Given the description of an element on the screen output the (x, y) to click on. 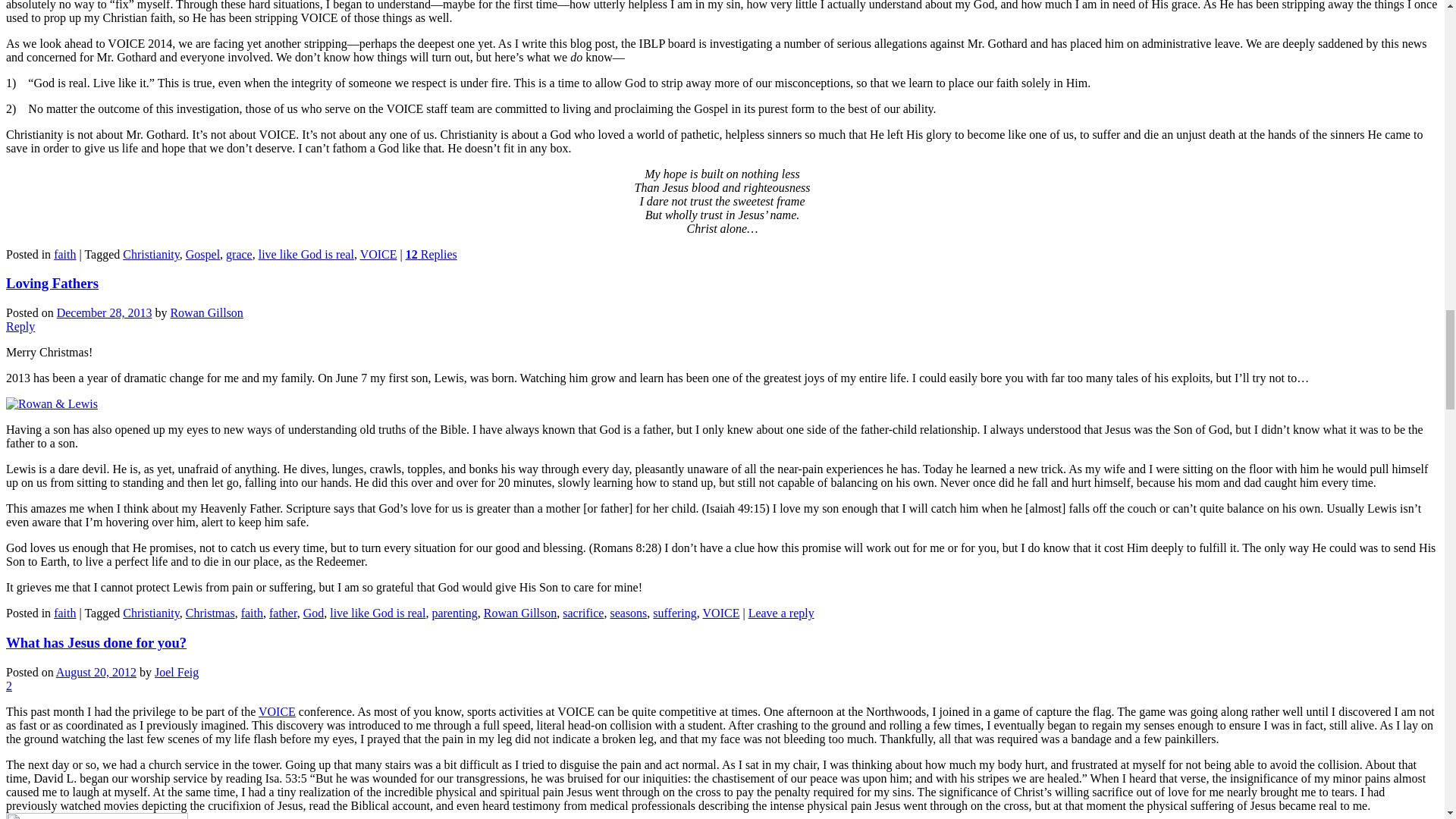
6:53 am (104, 312)
View all posts by Rowan Gillson (206, 312)
